Given the description of an element on the screen output the (x, y) to click on. 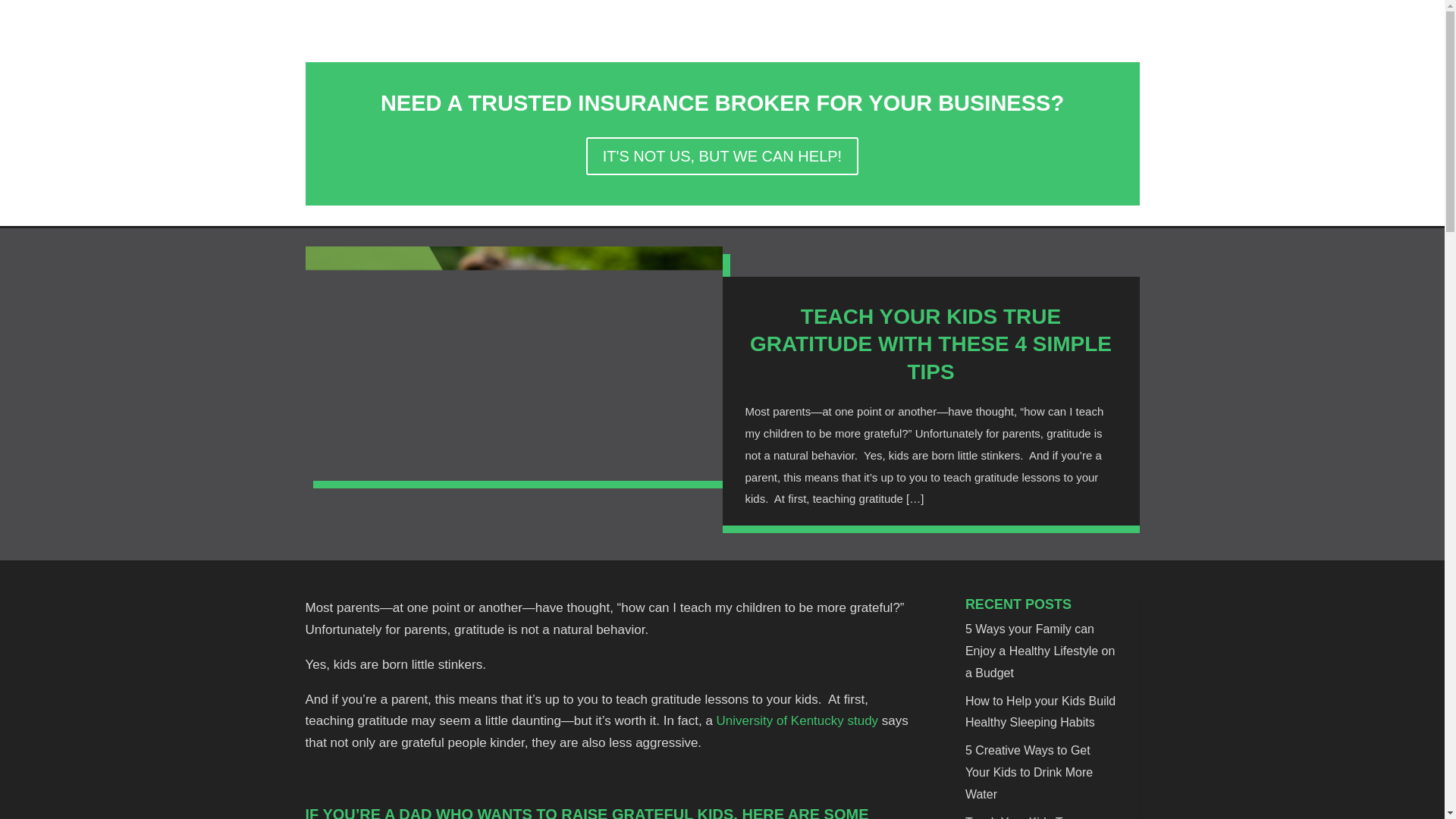
How to Help your Kids Build Healthy Sleeping Habits (1040, 711)
5 Creative Ways to Get Your Kids to Drink More Water (1029, 771)
Teach Your Kids True Gratitude with These 4 Simple Tips (1026, 817)
IT'S NOT US, BUT WE CAN HELP! (722, 156)
University of Kentucky study (797, 720)
5 Ways your Family can Enjoy a Healthy Lifestyle on a Budget (1040, 650)
